Given the description of an element on the screen output the (x, y) to click on. 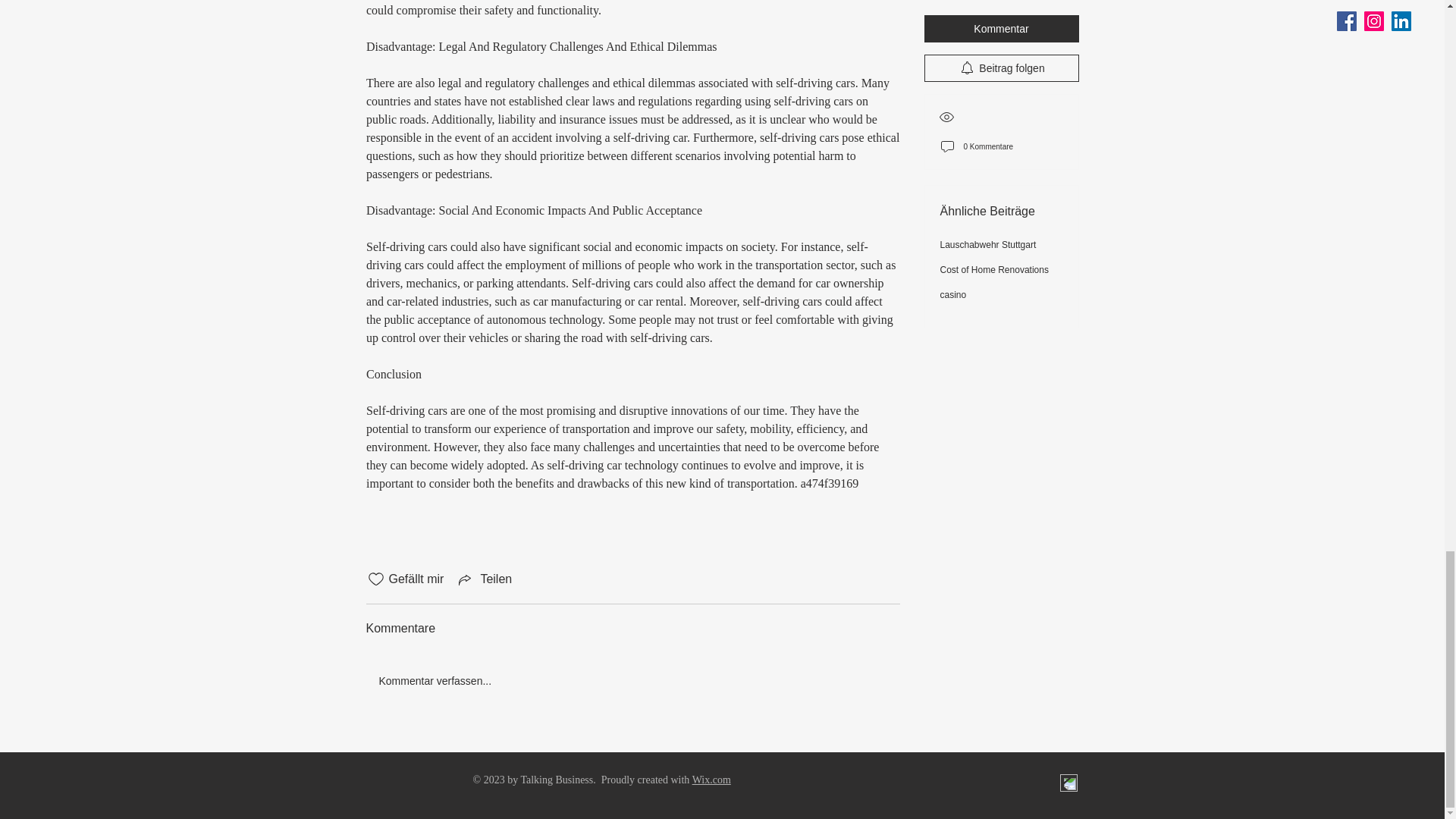
Teilen (483, 579)
Kommentar verfassen... (632, 680)
Wix.com (711, 779)
